Given the description of an element on the screen output the (x, y) to click on. 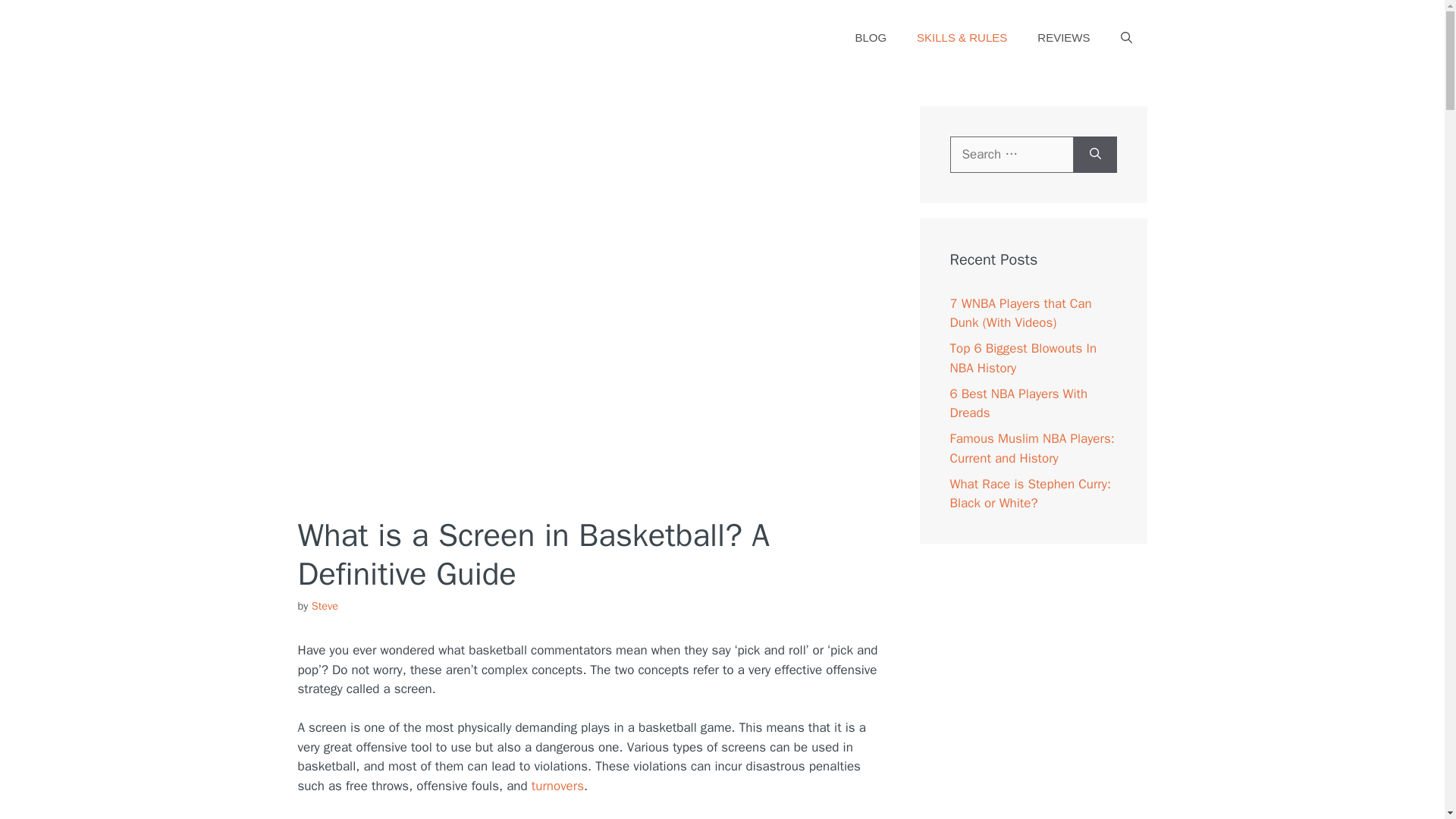
6 Best NBA Players With Dreads (1018, 402)
View all posts by Steve (324, 605)
turnovers (557, 785)
Steve (324, 605)
Famous Muslim NBA Players: Current and History (1031, 448)
Search for: (1011, 154)
Top 6 Biggest Blowouts In NBA History (1022, 357)
BLOG (870, 37)
What Race is Stephen Curry: Black or White? (1029, 493)
REVIEWS (1063, 37)
